Given the description of an element on the screen output the (x, y) to click on. 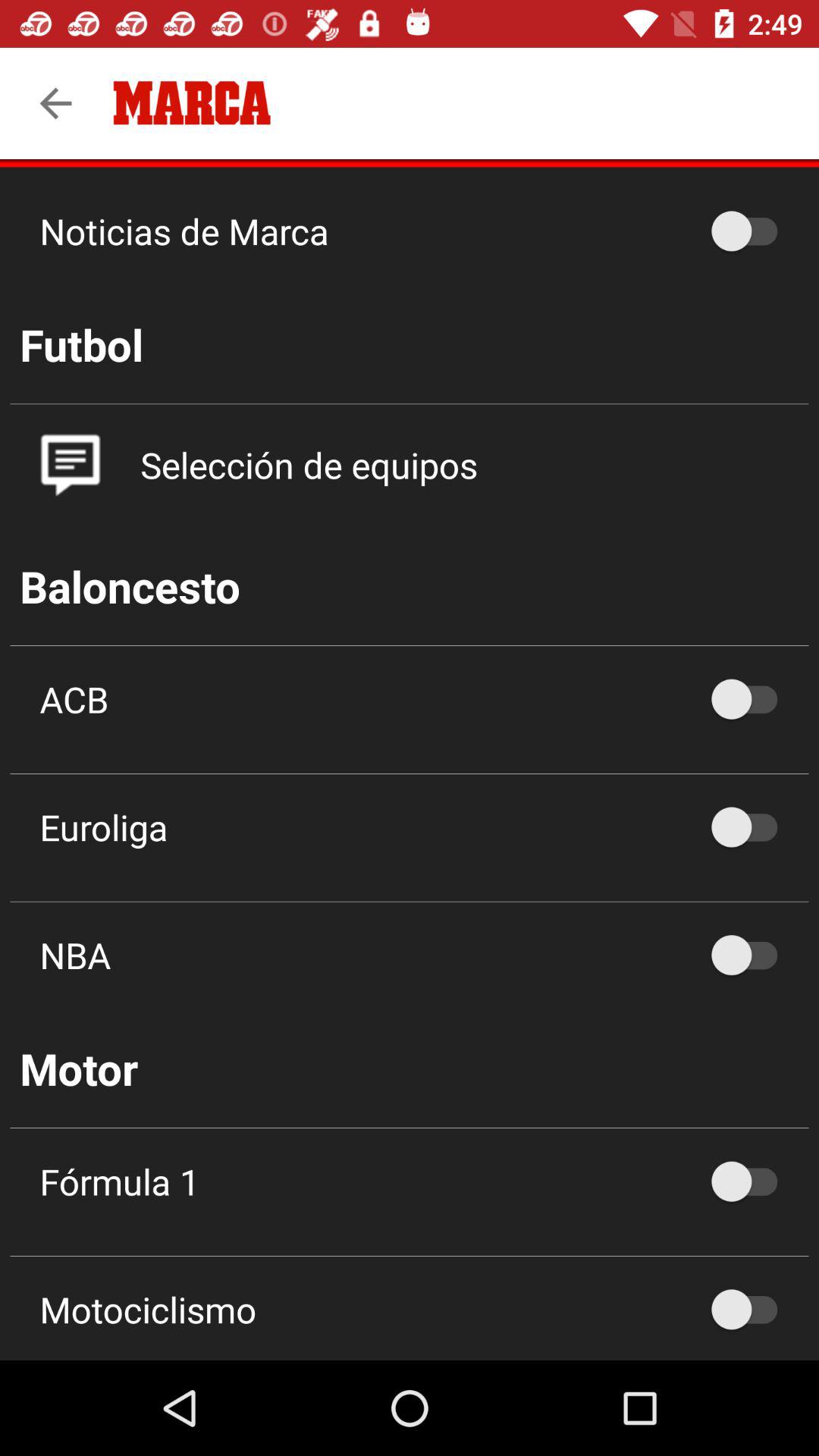
no radio button (751, 955)
